Given the description of an element on the screen output the (x, y) to click on. 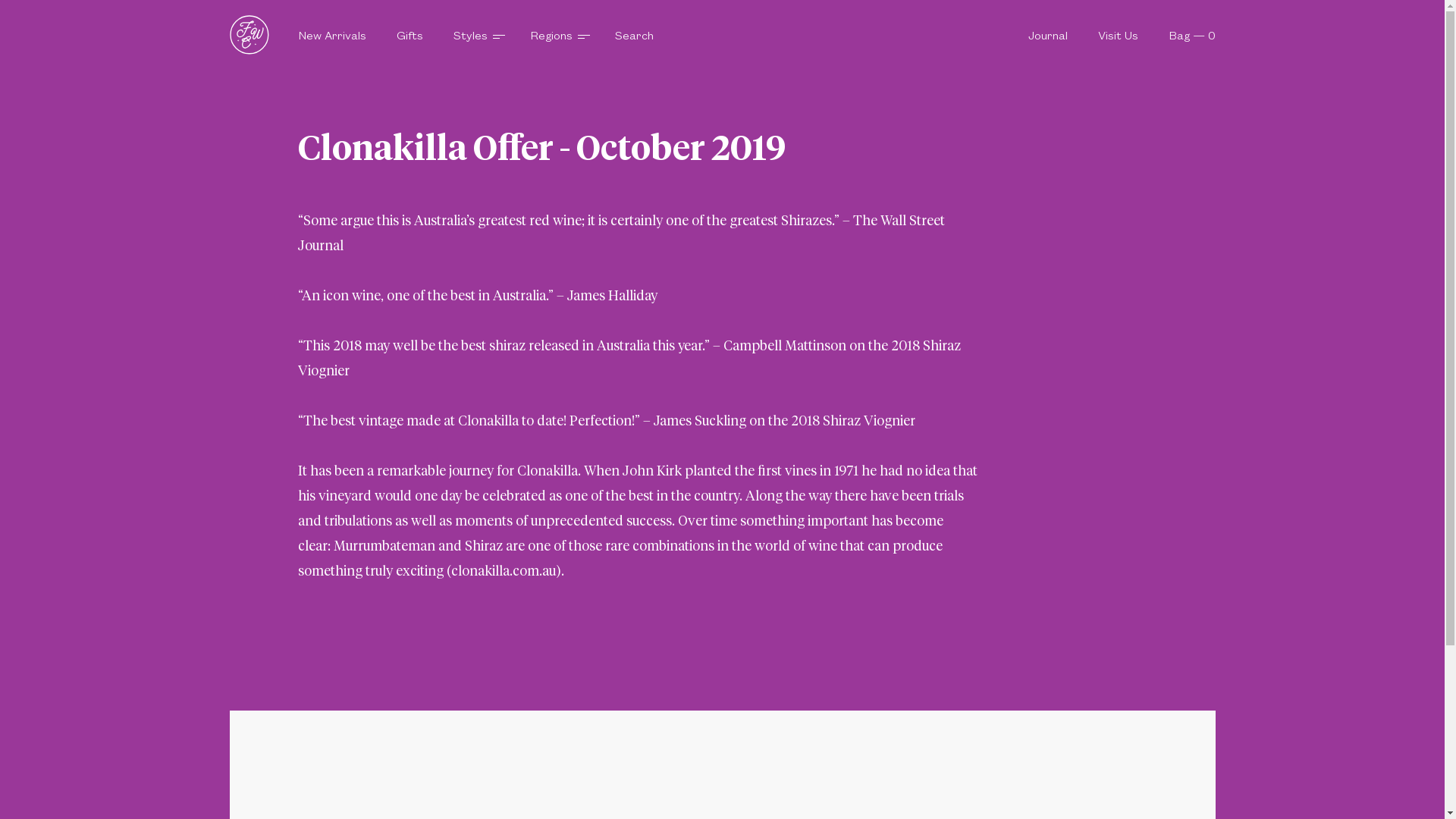
Visit Us Element type: text (1118, 34)
New Arrivals Element type: text (331, 34)
Gifts Element type: text (408, 34)
Journal Element type: text (1047, 34)
